Given the description of an element on the screen output the (x, y) to click on. 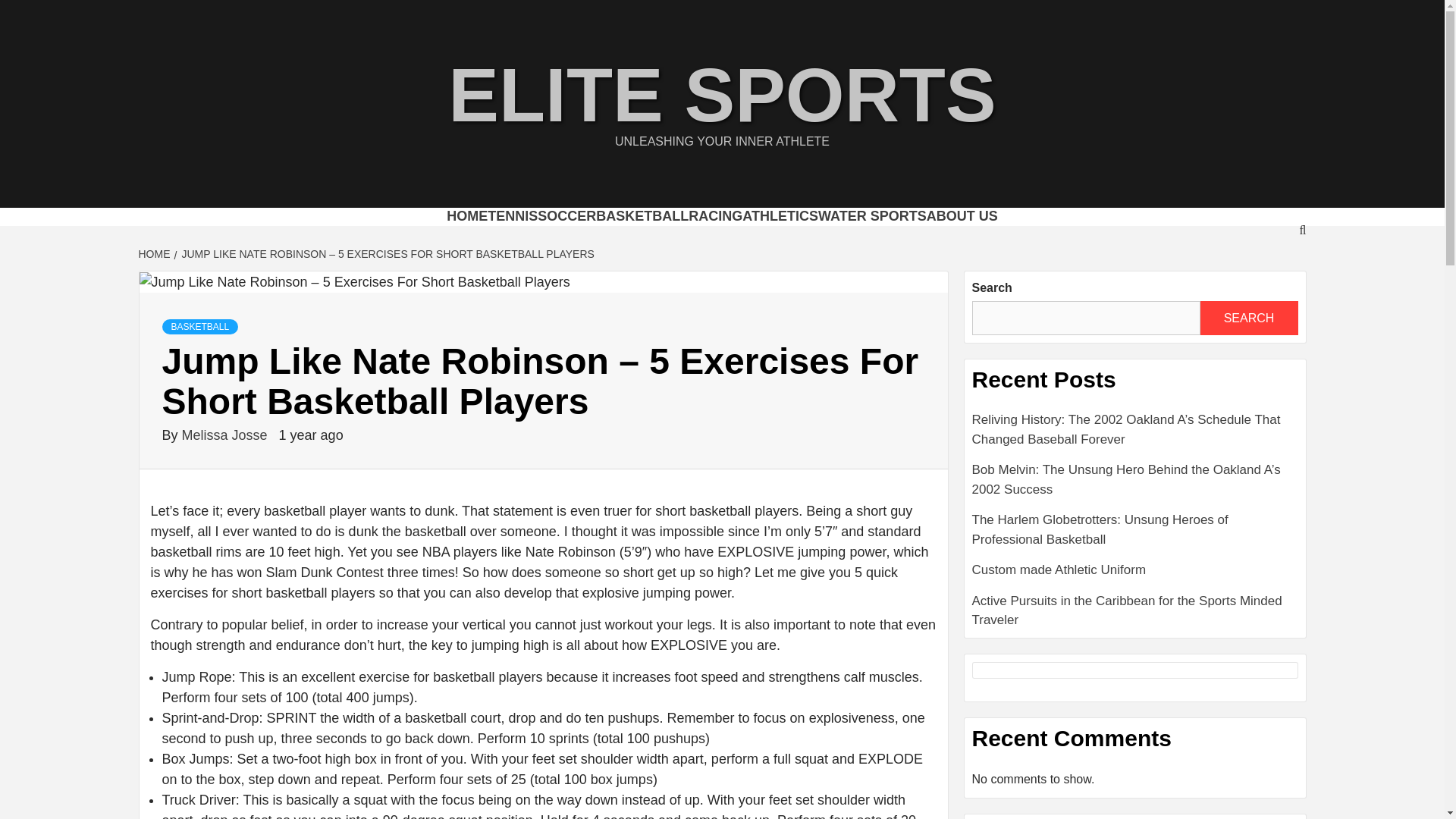
Custom made Athletic Uniform (1135, 604)
RACING (717, 231)
ABOUT US (1041, 231)
BASKETBALL (621, 231)
ATHLETICS (804, 231)
HOME (155, 283)
ELITE SPORTS (721, 94)
BASKETBALL (199, 355)
Melissa Josse (226, 465)
SEARCH (1248, 347)
TENNIS (446, 231)
HOME (378, 231)
WATER SPORTS (919, 231)
